Given the description of an element on the screen output the (x, y) to click on. 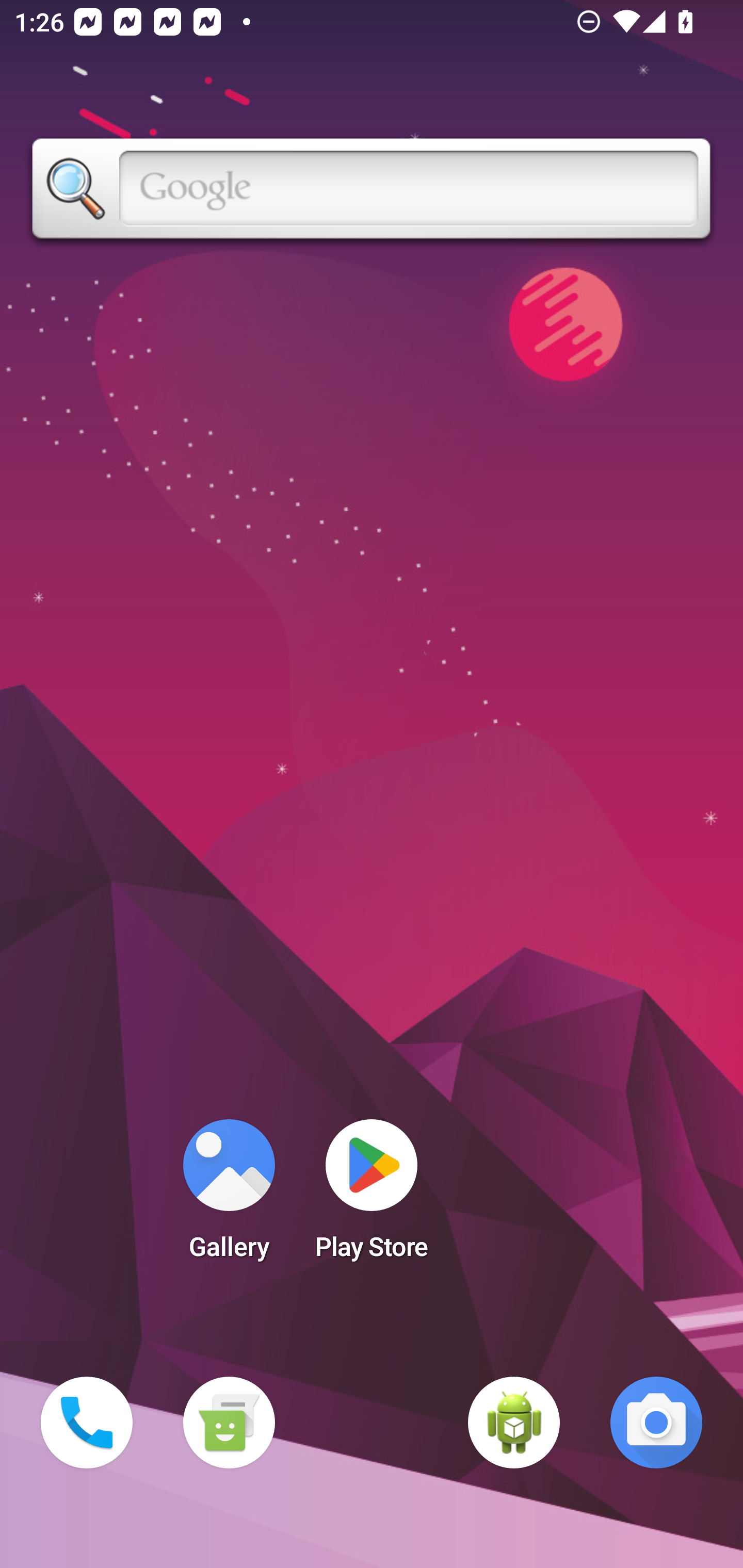
Gallery (228, 1195)
Play Store (371, 1195)
Phone (86, 1422)
Messaging (228, 1422)
WebView Browser Tester (513, 1422)
Camera (656, 1422)
